Given the description of an element on the screen output the (x, y) to click on. 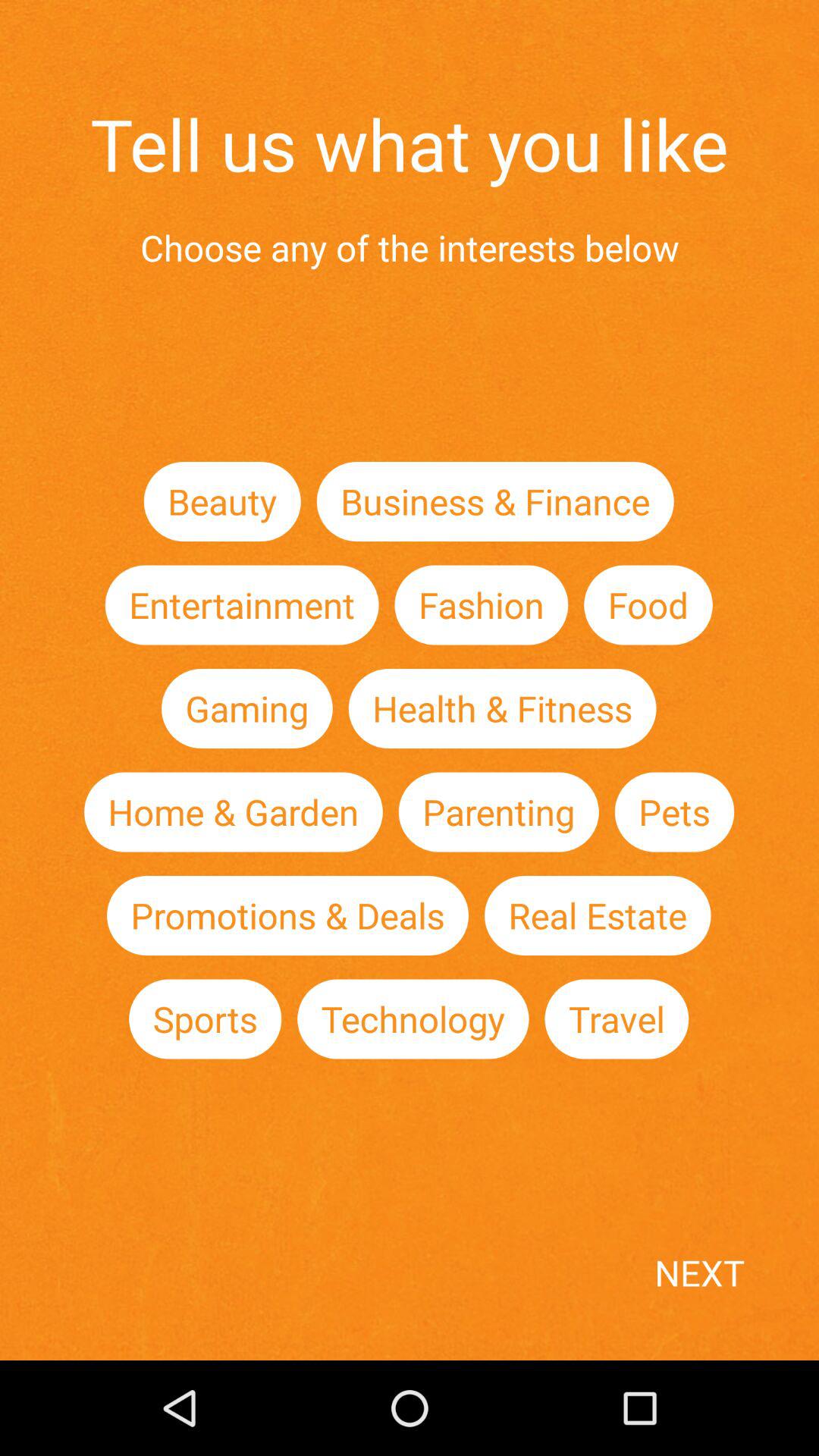
choose item next to parenting (674, 811)
